Given the description of an element on the screen output the (x, y) to click on. 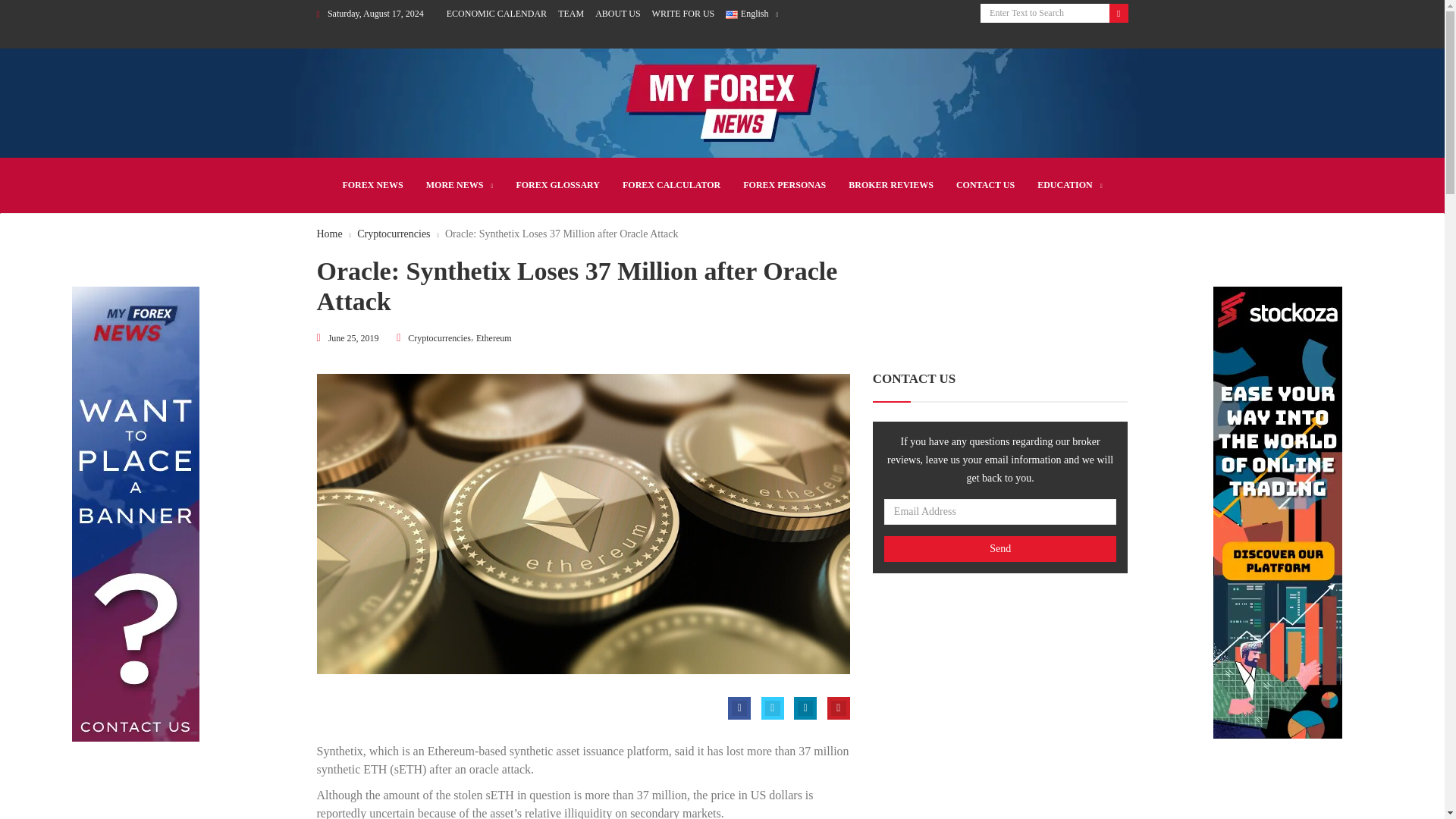
June 25, 2019 (353, 338)
Cryptocurrencies (438, 338)
TEAM (570, 13)
ABOUT US (617, 13)
Send (999, 548)
FOREX CALCULATOR (671, 184)
BROKER REVIEWS (890, 184)
FOREX NEWS (372, 184)
Home (329, 234)
MORE NEWS (459, 185)
